Given the description of an element on the screen output the (x, y) to click on. 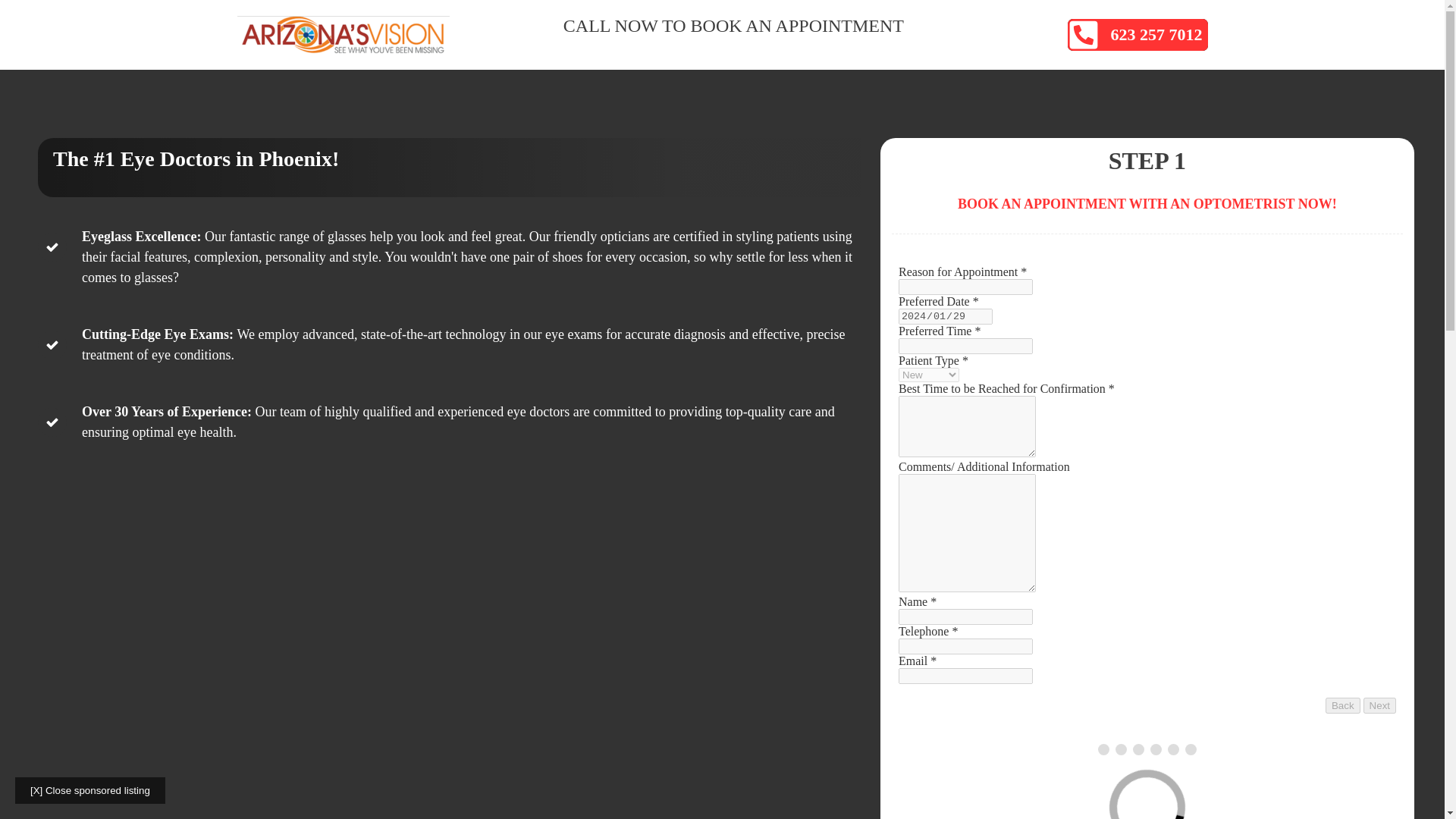
CONTACT (1147, 59)
ABOUT (1057, 59)
HOME (977, 59)
